Given the description of an element on the screen output the (x, y) to click on. 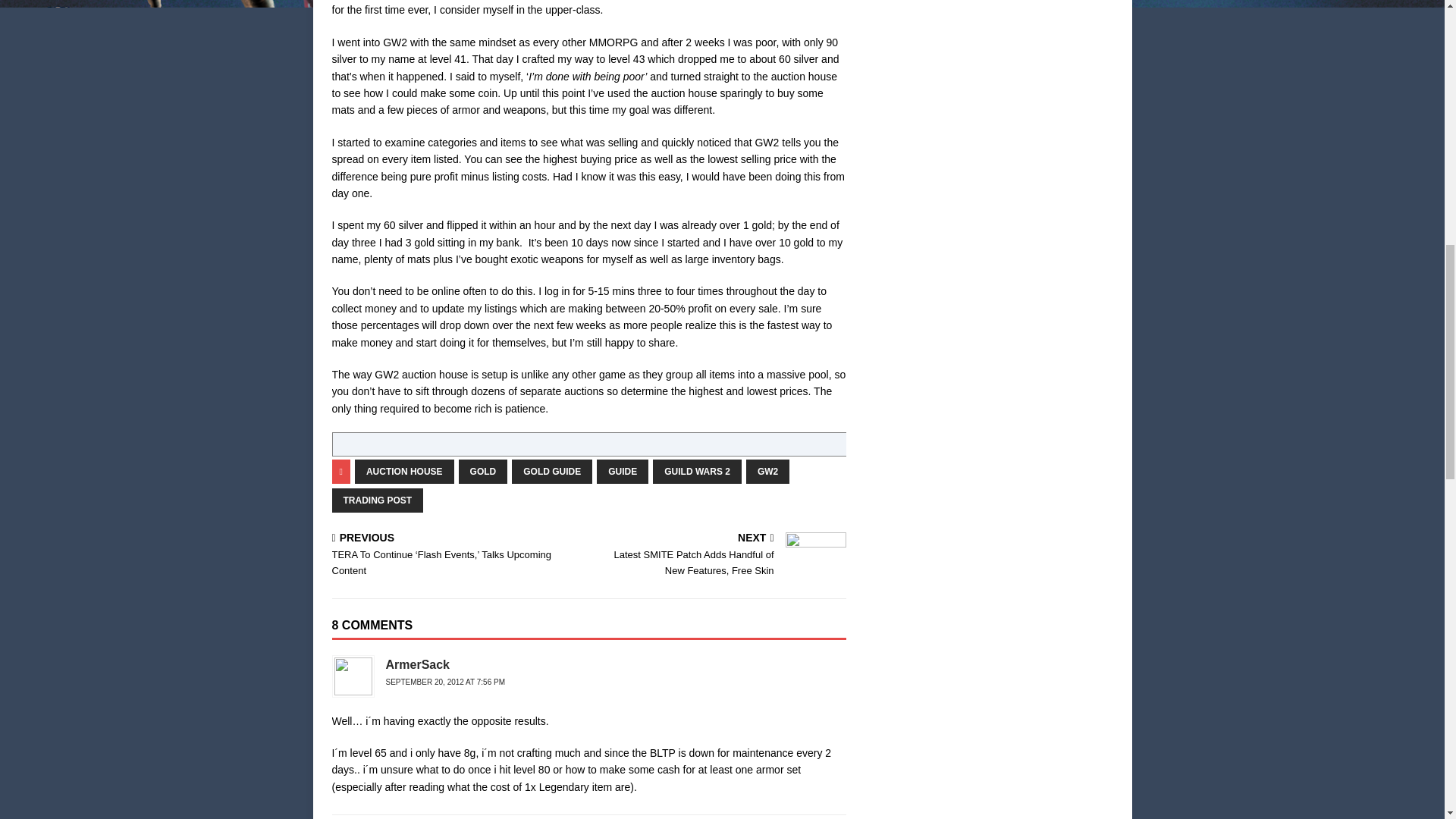
SEPTEMBER 20, 2012 AT 7:56 PM (445, 682)
GW2 (767, 471)
AUCTION HOUSE (404, 471)
GUILD WARS 2 (696, 471)
TRADING POST (377, 500)
GUIDE (621, 471)
GOLD (483, 471)
GOLD GUIDE (552, 471)
